Given the description of an element on the screen output the (x, y) to click on. 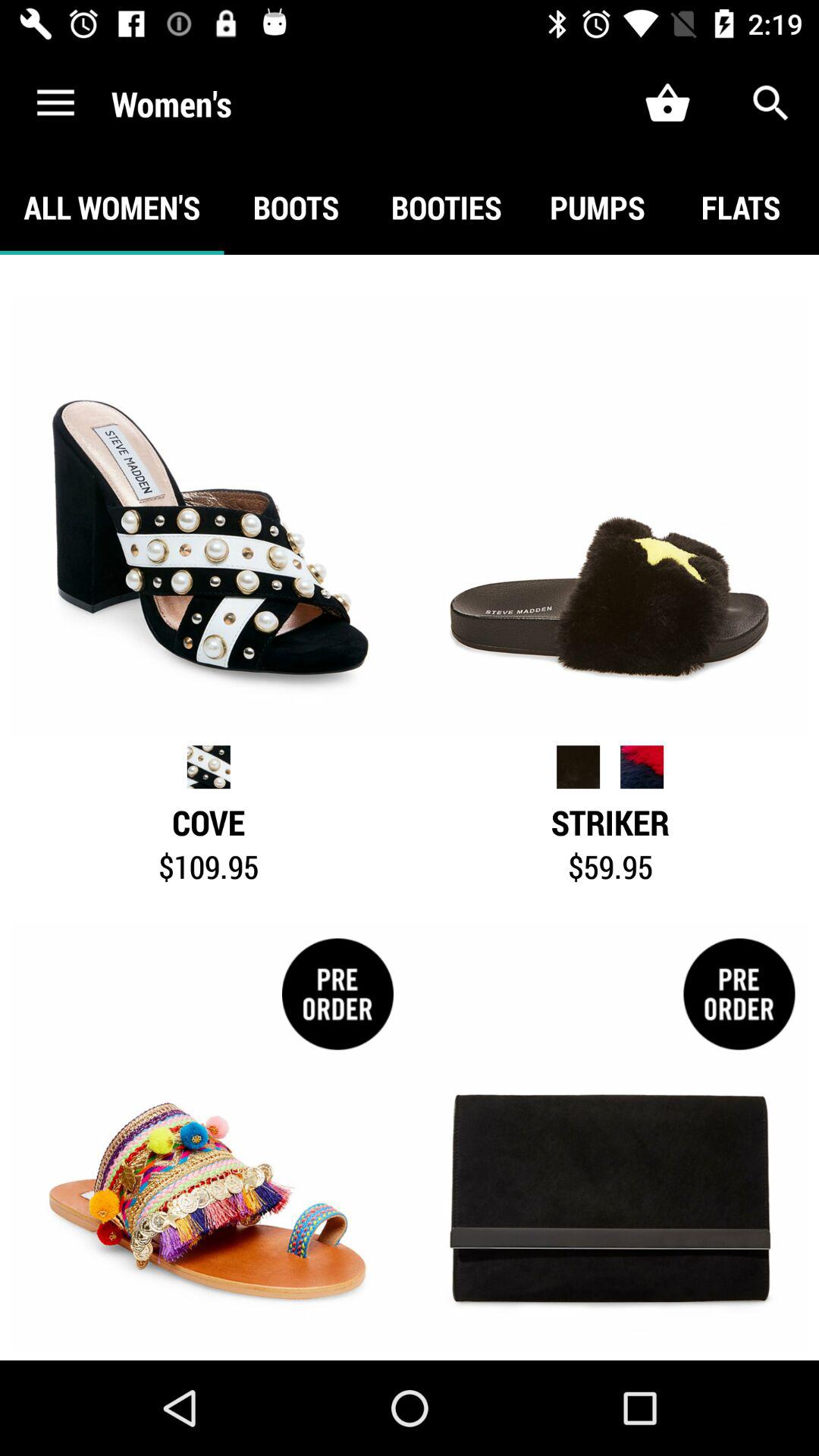
tap the item next to women's item (55, 103)
